Given the description of an element on the screen output the (x, y) to click on. 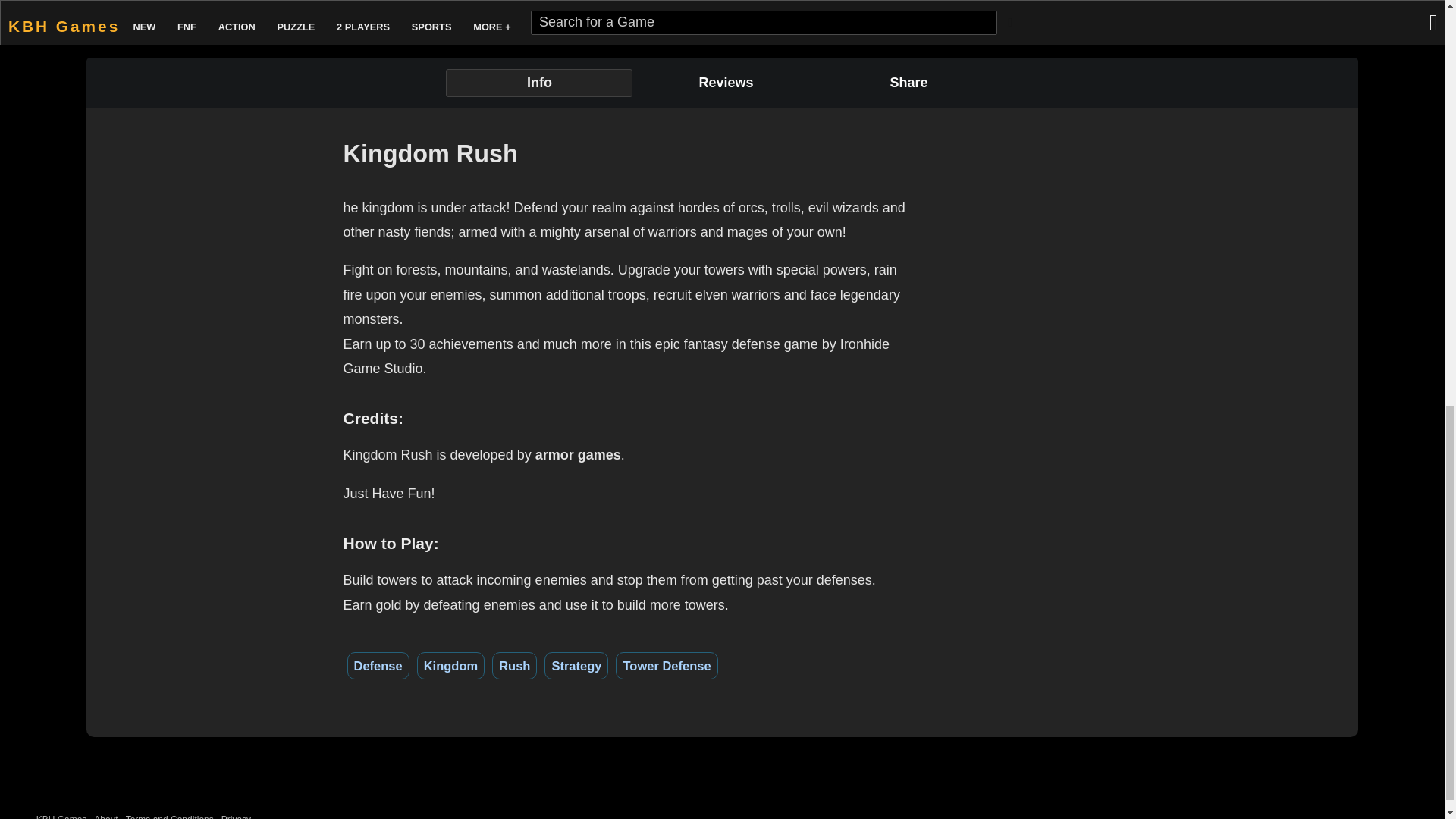
Tower Defense: Defense Legend (357, 11)
Pokemon Tower Defense 2 (1192, 7)
Tower Defense: Defense Legend (357, 7)
Apexlands - Idle Tower Defense (692, 7)
Bloons Tower Defense 5 (191, 7)
Bloons Tower Defense 5 (191, 11)
Bloons Tower Defense 3 (1359, 7)
Portal TD - Tower Defense (525, 7)
Portal TD - Tower Defense (525, 11)
AOD - Art Of Defense (858, 7)
